Given the description of an element on the screen output the (x, y) to click on. 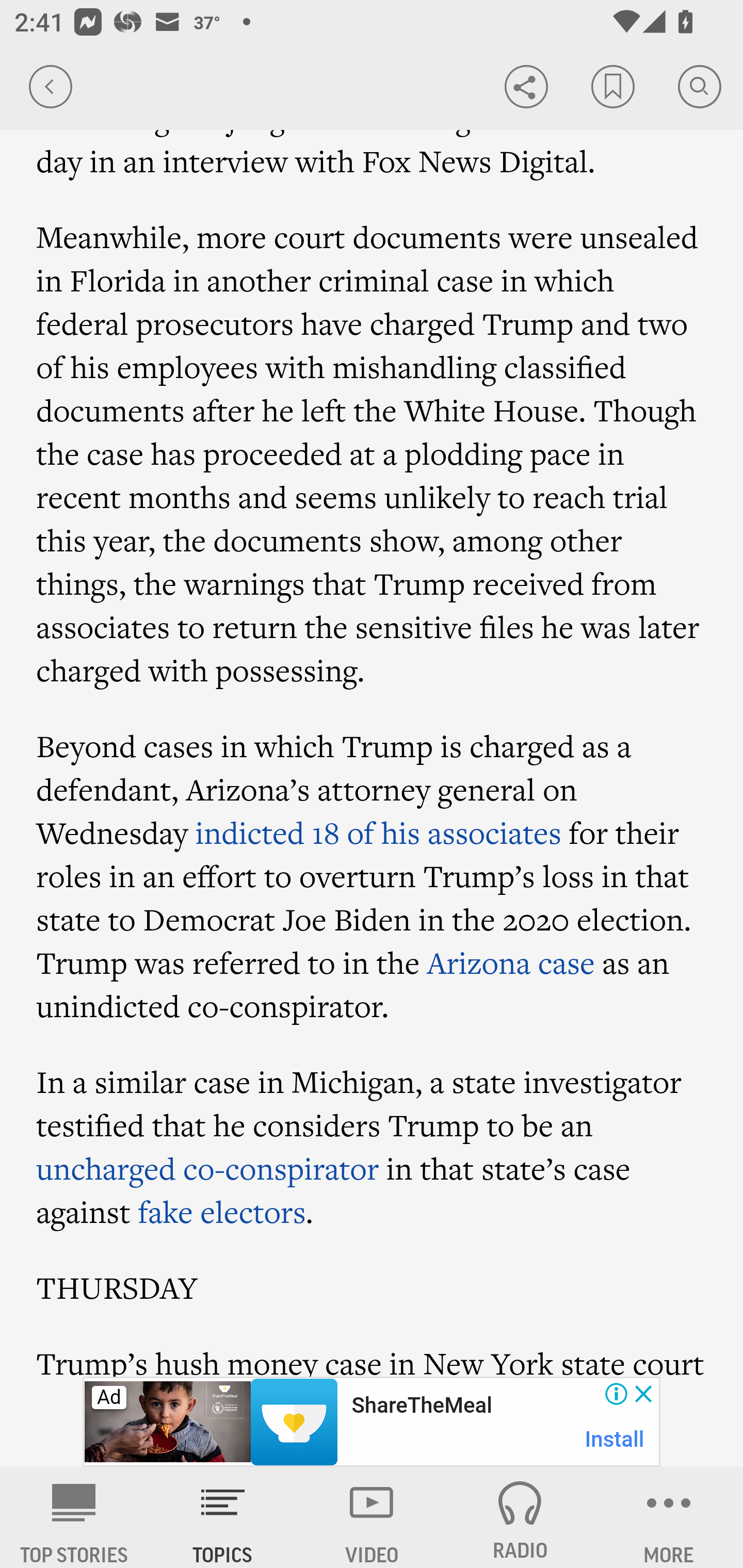
indicted 18 of his associates (377, 832)
Arizona case (510, 962)
uncharged co-conspirator (208, 1168)
fake electors (221, 1212)
ShareTheMeal (420, 1405)
Install (614, 1438)
AP News TOP STORIES (74, 1517)
TOPICS (222, 1517)
VIDEO (371, 1517)
RADIO (519, 1517)
MORE (668, 1517)
